Given the description of an element on the screen output the (x, y) to click on. 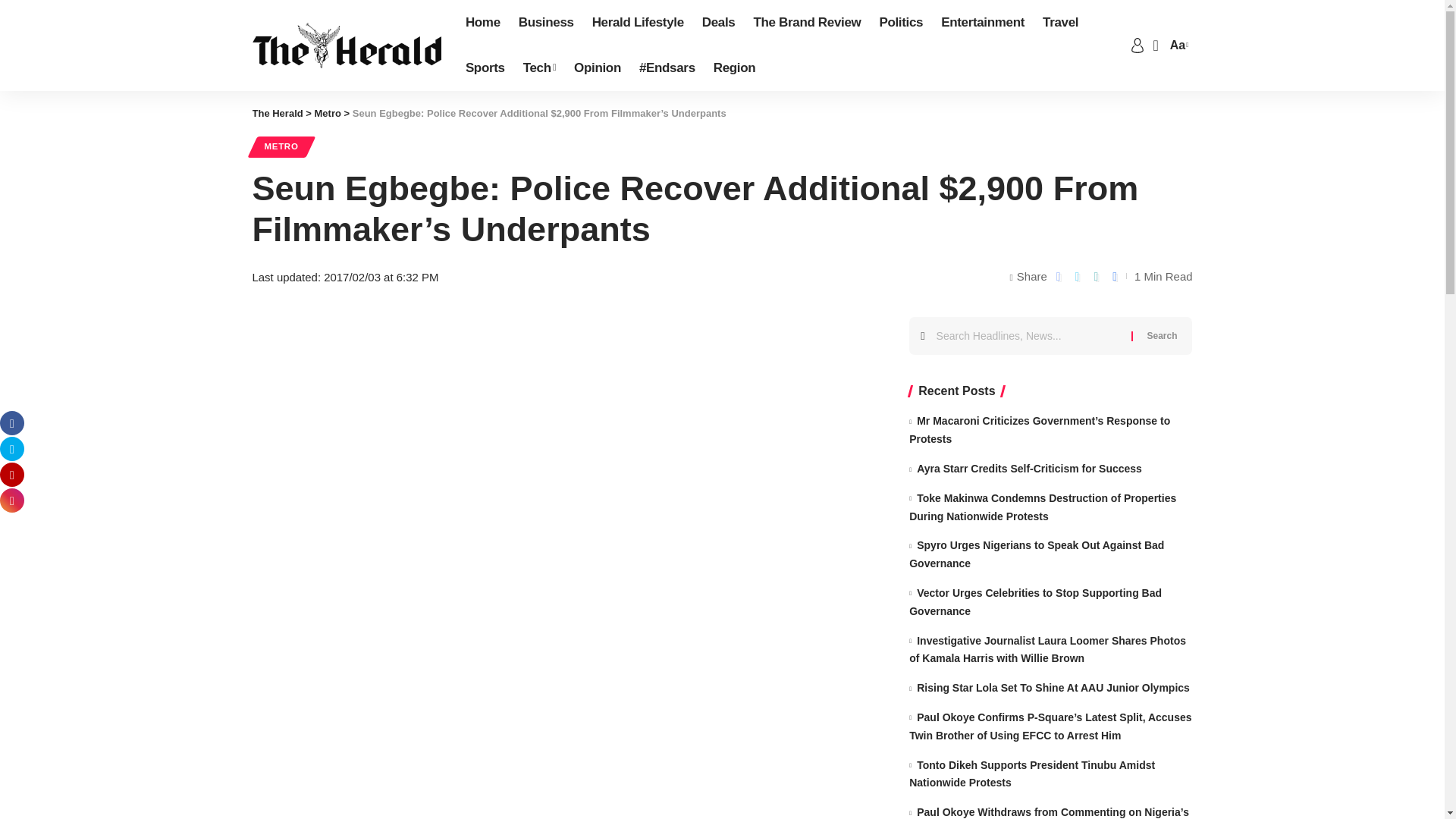
The Brand Review (806, 22)
Business (546, 22)
Go to the Metro Category archives. (327, 112)
Herald Lifestyle (638, 22)
Opinion (597, 67)
Politics (900, 22)
Search (1161, 335)
Home (483, 22)
Go to The Herald. (276, 112)
Deals (718, 22)
